Given the description of an element on the screen output the (x, y) to click on. 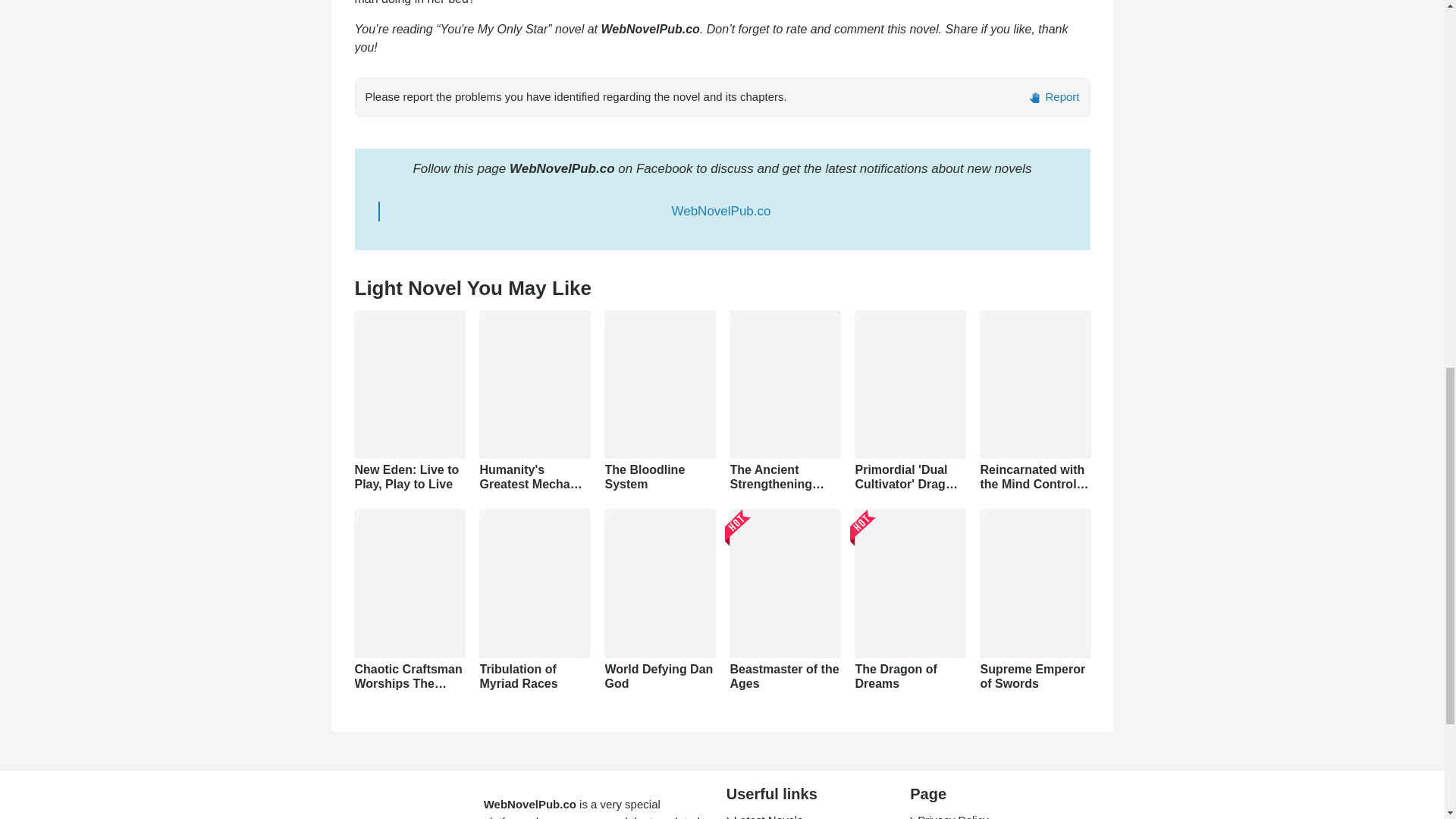
WebNovelPub.co (720, 210)
Report (1050, 97)
Latest Novels (768, 816)
